Given the description of an element on the screen output the (x, y) to click on. 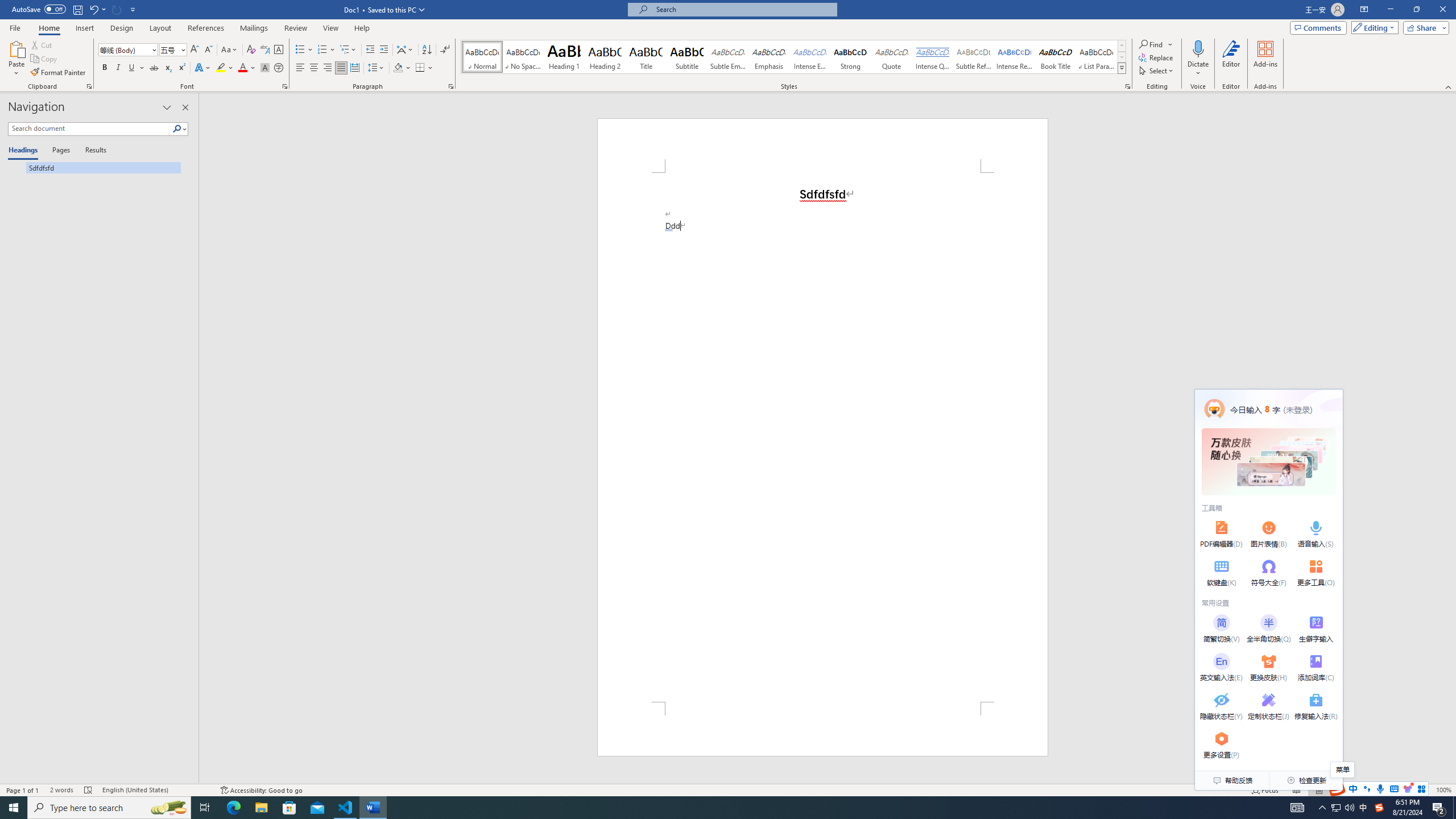
Intense Reference (1014, 56)
